Given the description of an element on the screen output the (x, y) to click on. 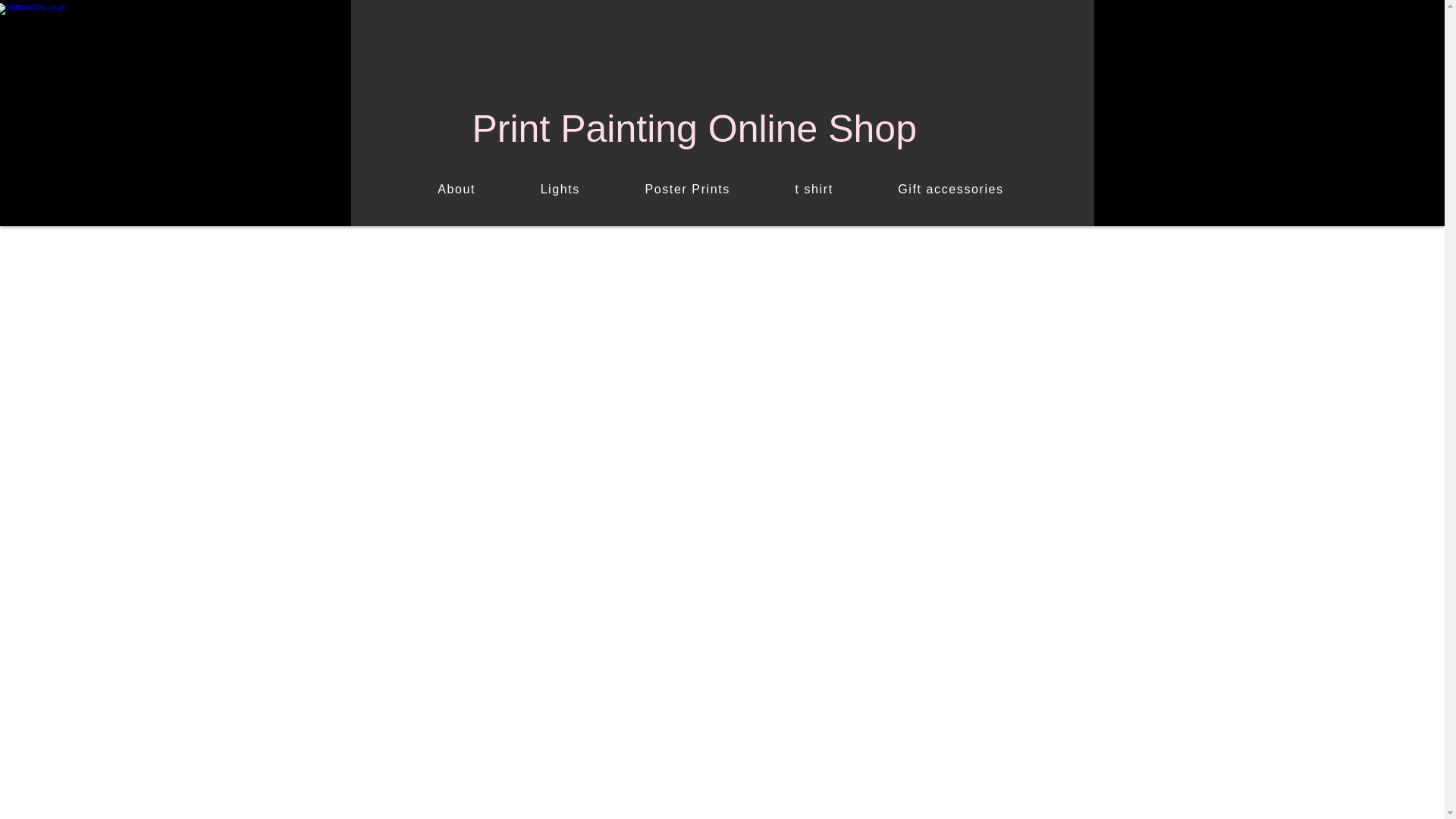
Lights (560, 189)
Poster Prints (687, 189)
About (455, 189)
Gift accessories (951, 189)
Renaissance Style Portrait (175, 114)
t shirt (814, 189)
